Given the description of an element on the screen output the (x, y) to click on. 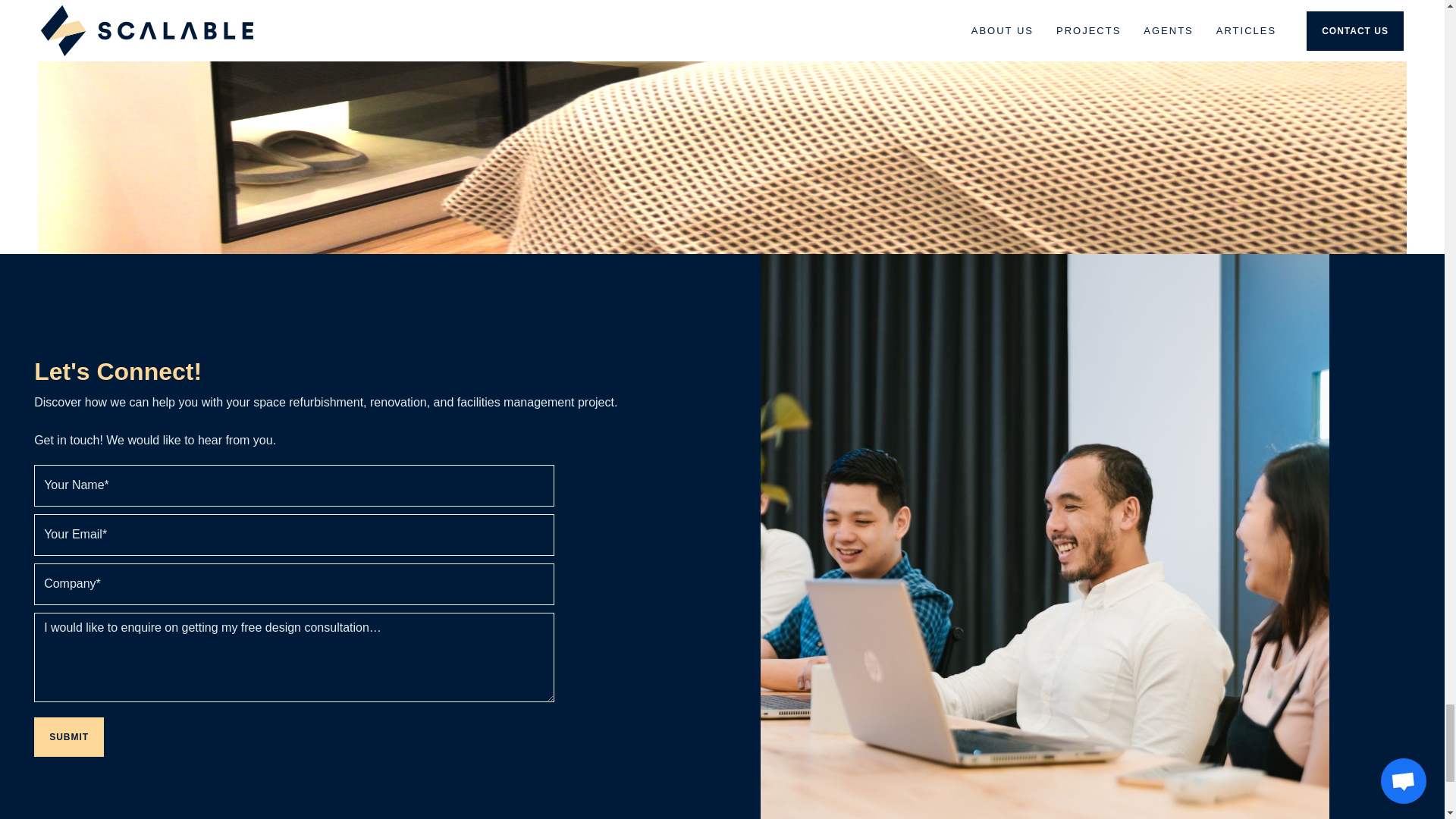
SUBMIT (68, 736)
SUBMIT (68, 736)
